Given the description of an element on the screen output the (x, y) to click on. 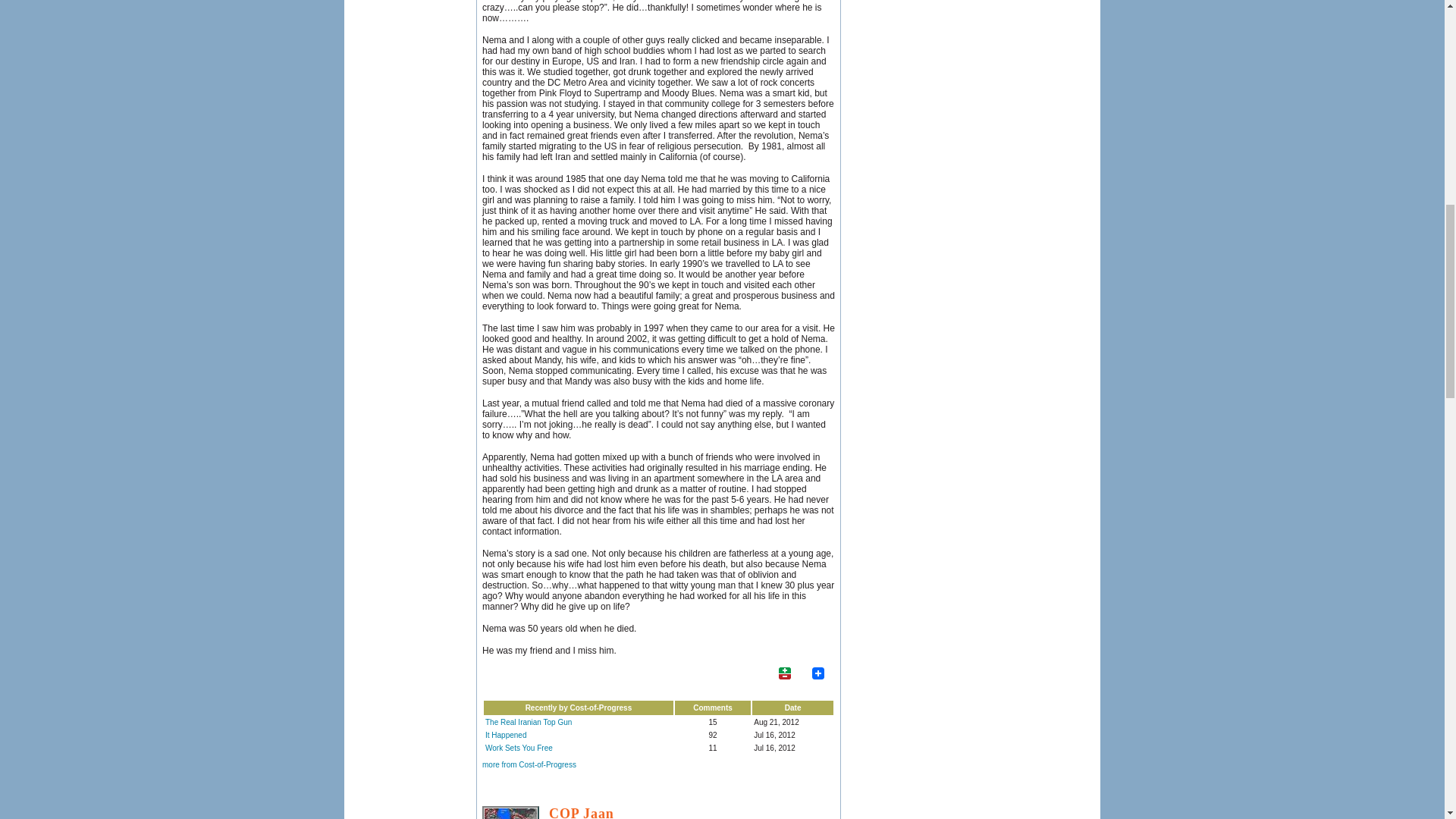
Onlyiran (509, 812)
